Given the description of an element on the screen output the (x, y) to click on. 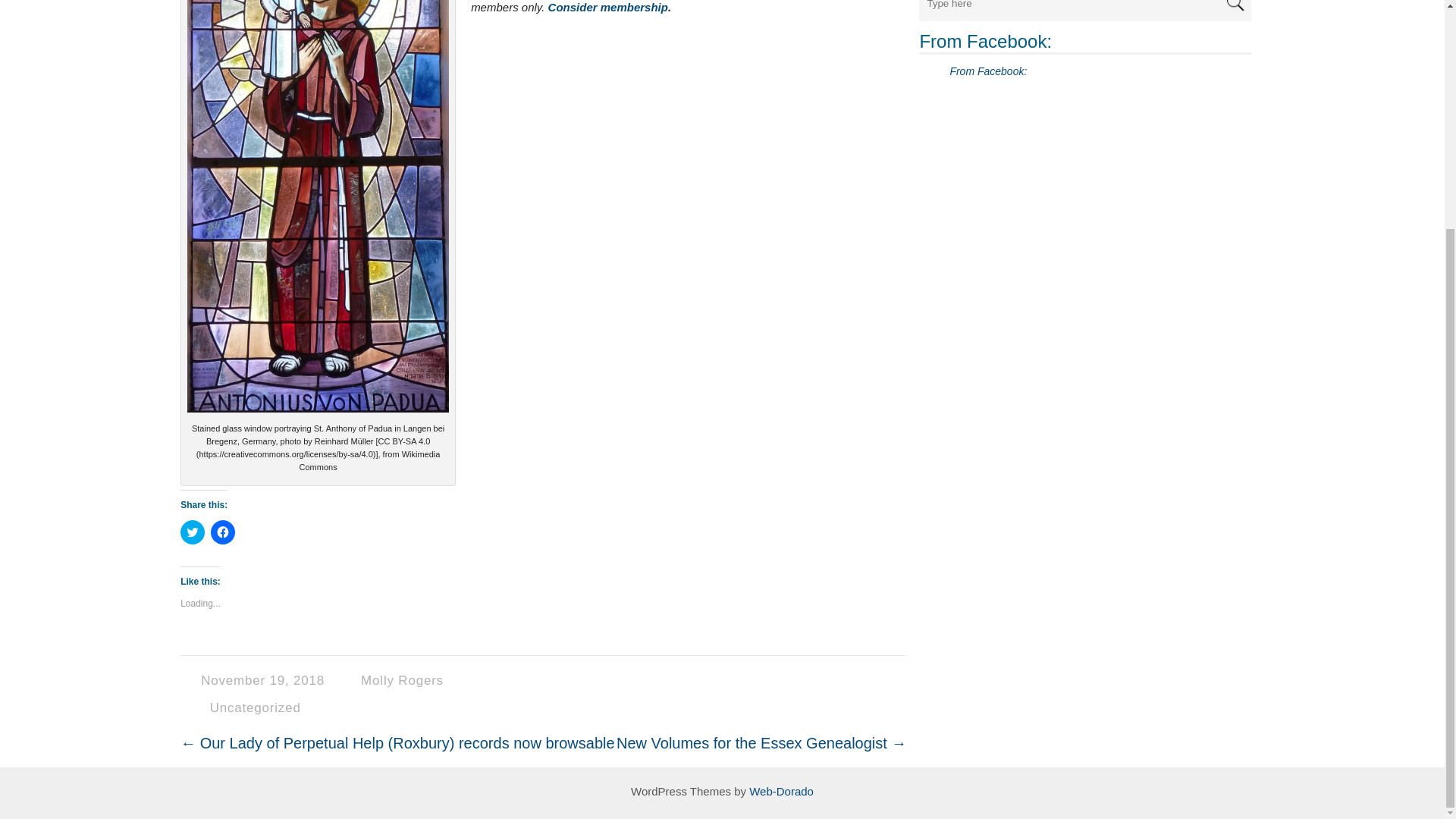
4:02 pm (265, 680)
Uncategorized (255, 707)
Search (1234, 7)
November 19, 2018 (265, 680)
Consider membership (608, 6)
Click to share on Facebook (222, 532)
Click to share on Twitter (192, 532)
View all posts by Molly Rogers (402, 680)
Search (1234, 7)
Web-Dorado (781, 790)
